Given the description of an element on the screen output the (x, y) to click on. 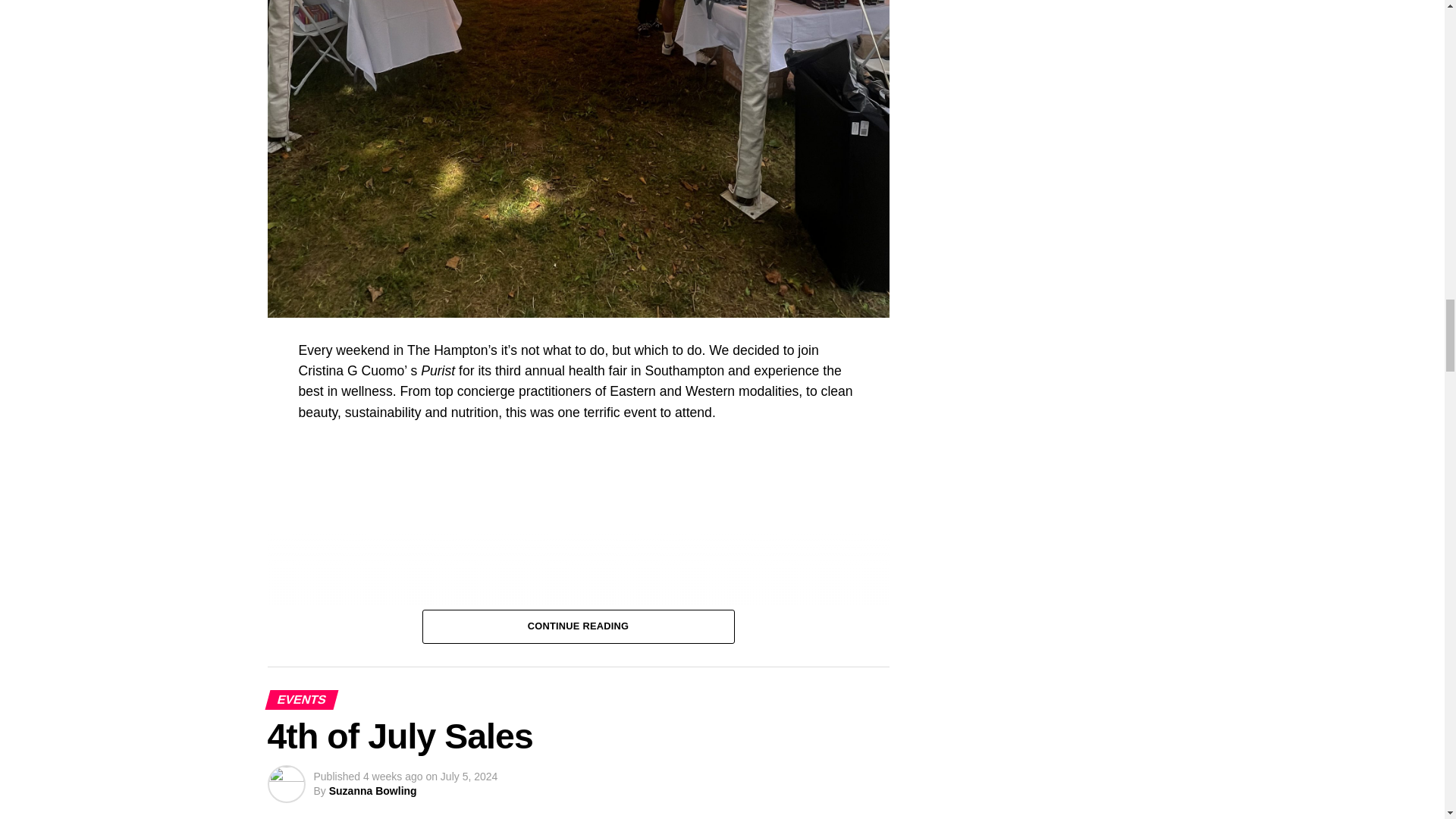
YouTube video player (510, 557)
Posts by Suzanna Bowling (372, 790)
